Given the description of an element on the screen output the (x, y) to click on. 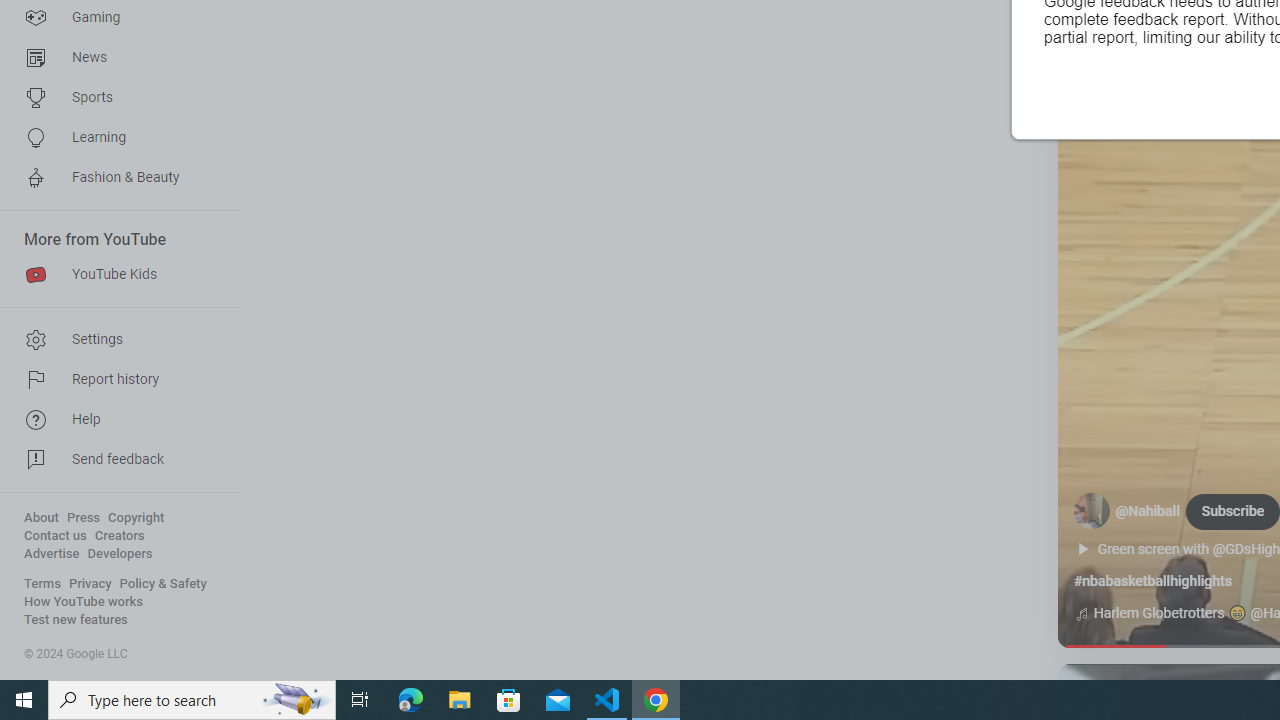
Report history (113, 380)
@Nahiball (1147, 511)
Send feedback (113, 459)
Press (83, 518)
#nbabasketballhighlights (1151, 581)
Developers (120, 554)
Policy & Safety (163, 584)
